Given the description of an element on the screen output the (x, y) to click on. 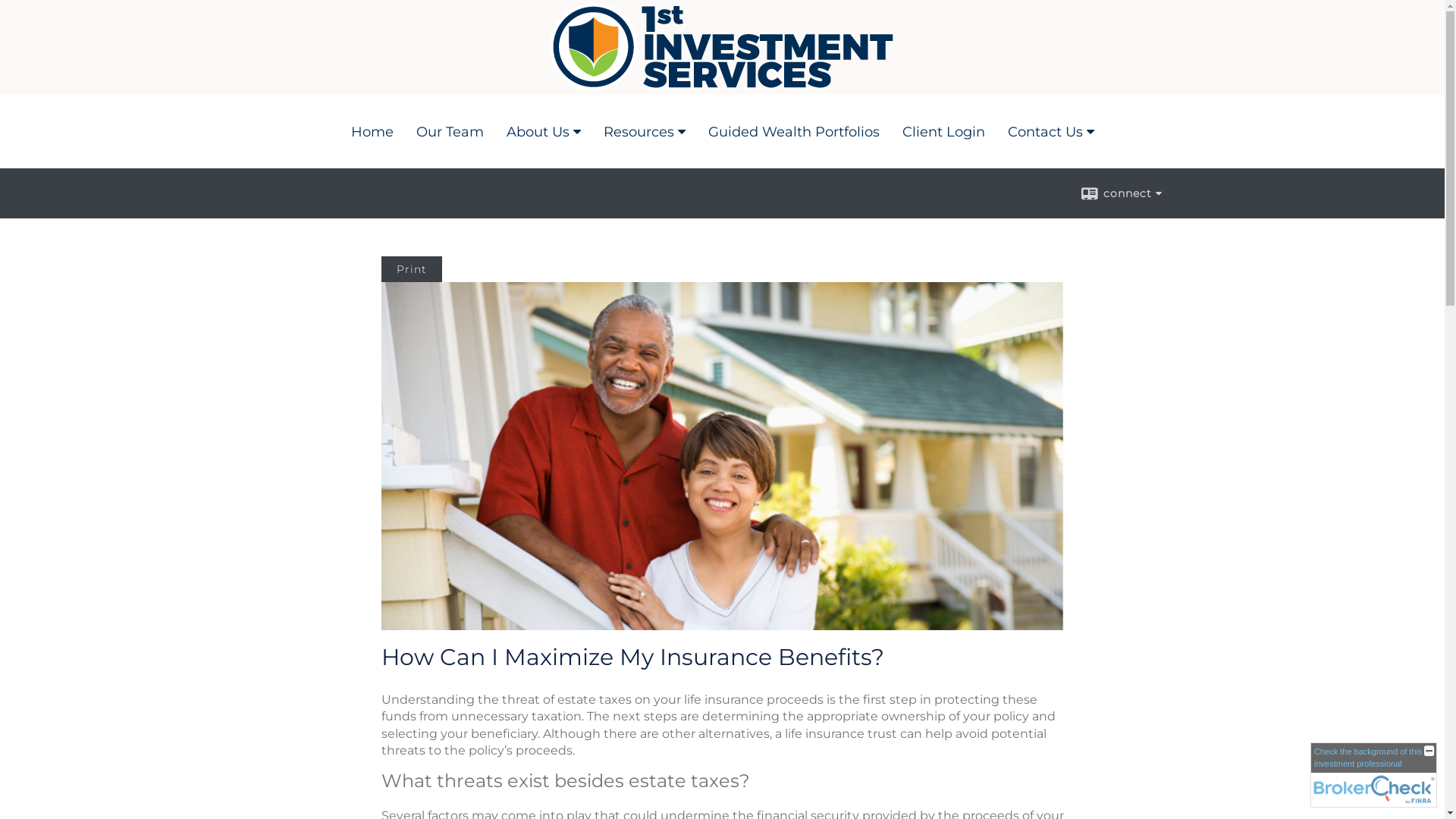
Contact Us Element type: text (1050, 131)
Our Team Element type: text (449, 131)
Check the background of this investment professional Element type: text (1367, 756)
Print Element type: text (410, 269)
Guided Wealth Portfolios Element type: text (793, 131)
About Us Element type: text (542, 131)
Client Login Element type: text (942, 131)
connect Element type: text (1120, 193)
Home Element type: text (371, 131)
Resources Element type: text (643, 131)
Check the background of this investment professional Element type: text (1373, 774)
